Given the description of an element on the screen output the (x, y) to click on. 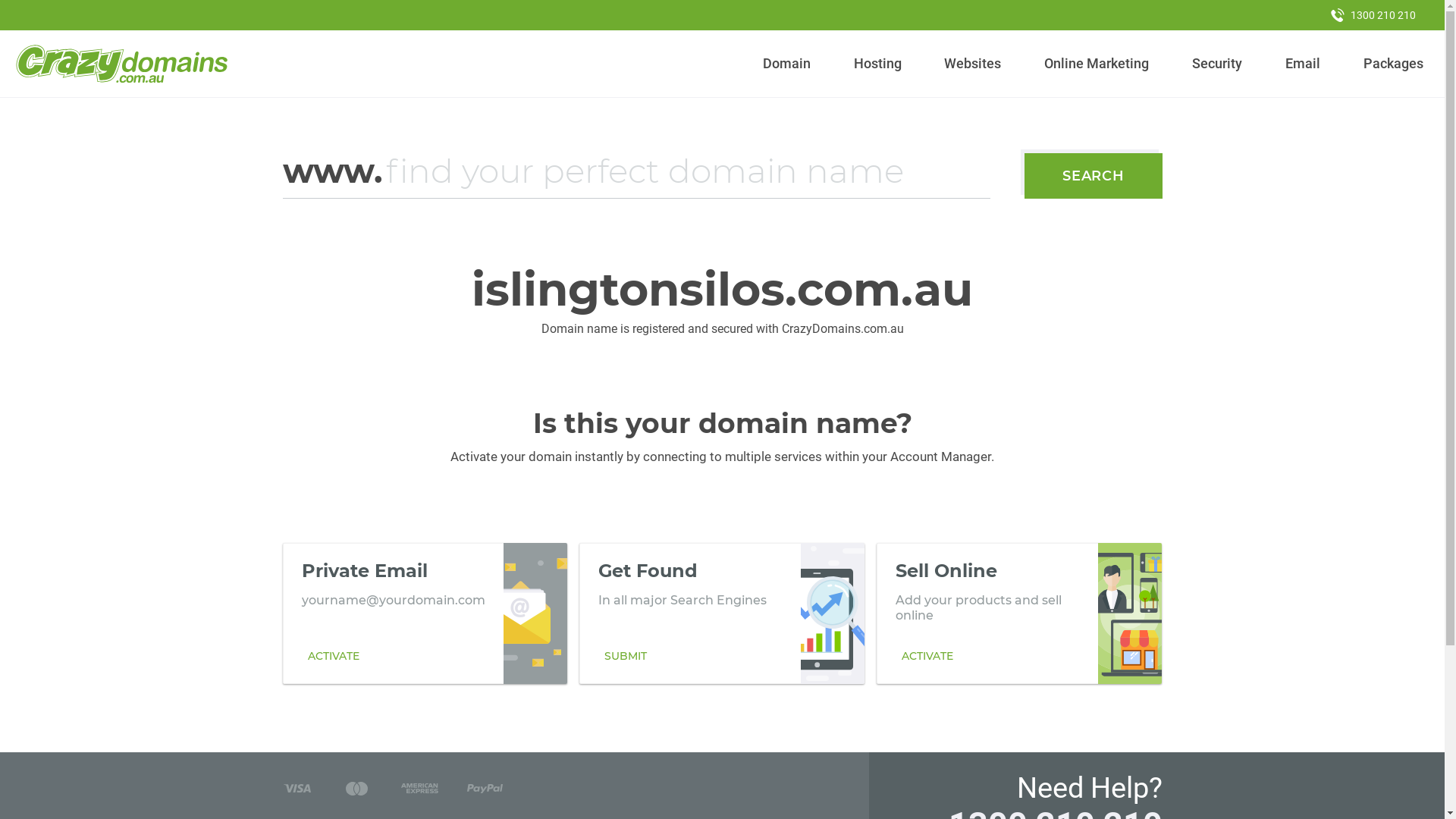
Get Found
In all major Search Engines
SUBMIT Element type: text (721, 613)
Hosting Element type: text (877, 63)
1300 210 210 Element type: text (1373, 15)
Packages Element type: text (1392, 63)
Websites Element type: text (972, 63)
Private Email
yourname@yourdomain.com
ACTIVATE Element type: text (424, 613)
Sell Online
Add your products and sell online
ACTIVATE Element type: text (1018, 613)
SEARCH Element type: text (1092, 175)
Online Marketing Element type: text (1096, 63)
Email Element type: text (1302, 63)
Domain Element type: text (786, 63)
Security Element type: text (1217, 63)
